Given the description of an element on the screen output the (x, y) to click on. 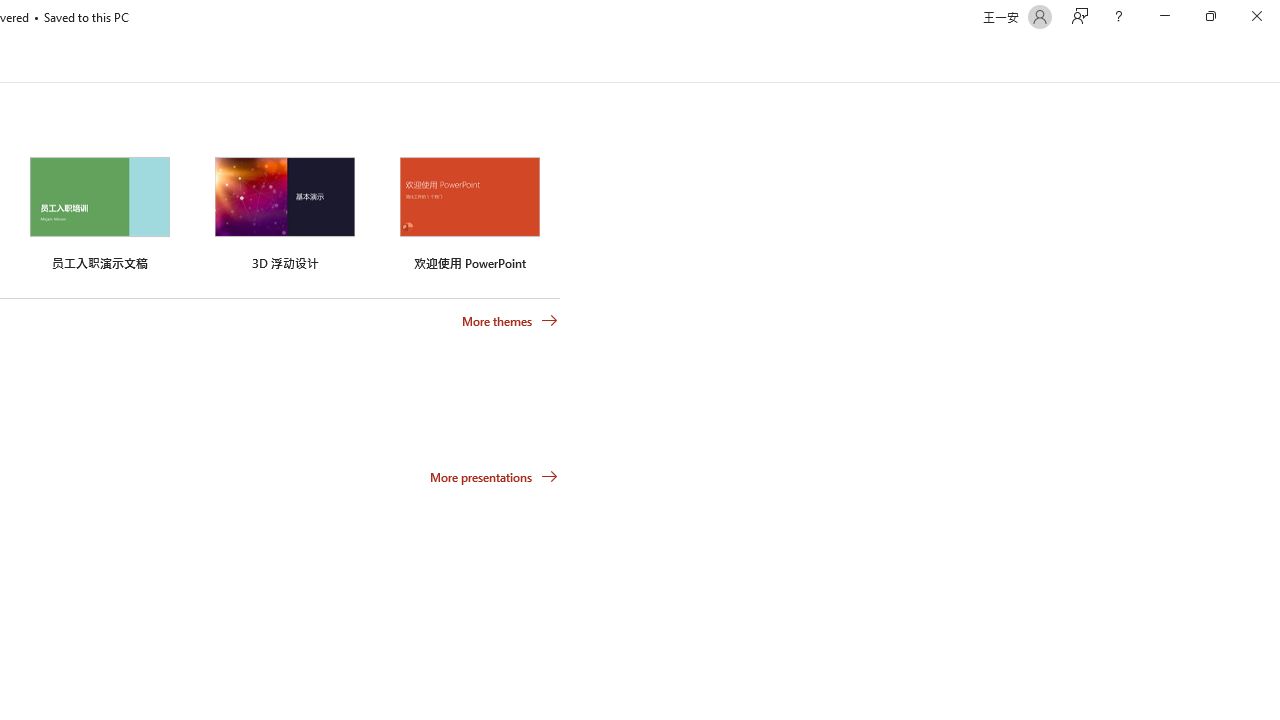
More presentations (493, 476)
More themes (509, 321)
